Given the description of an element on the screen output the (x, y) to click on. 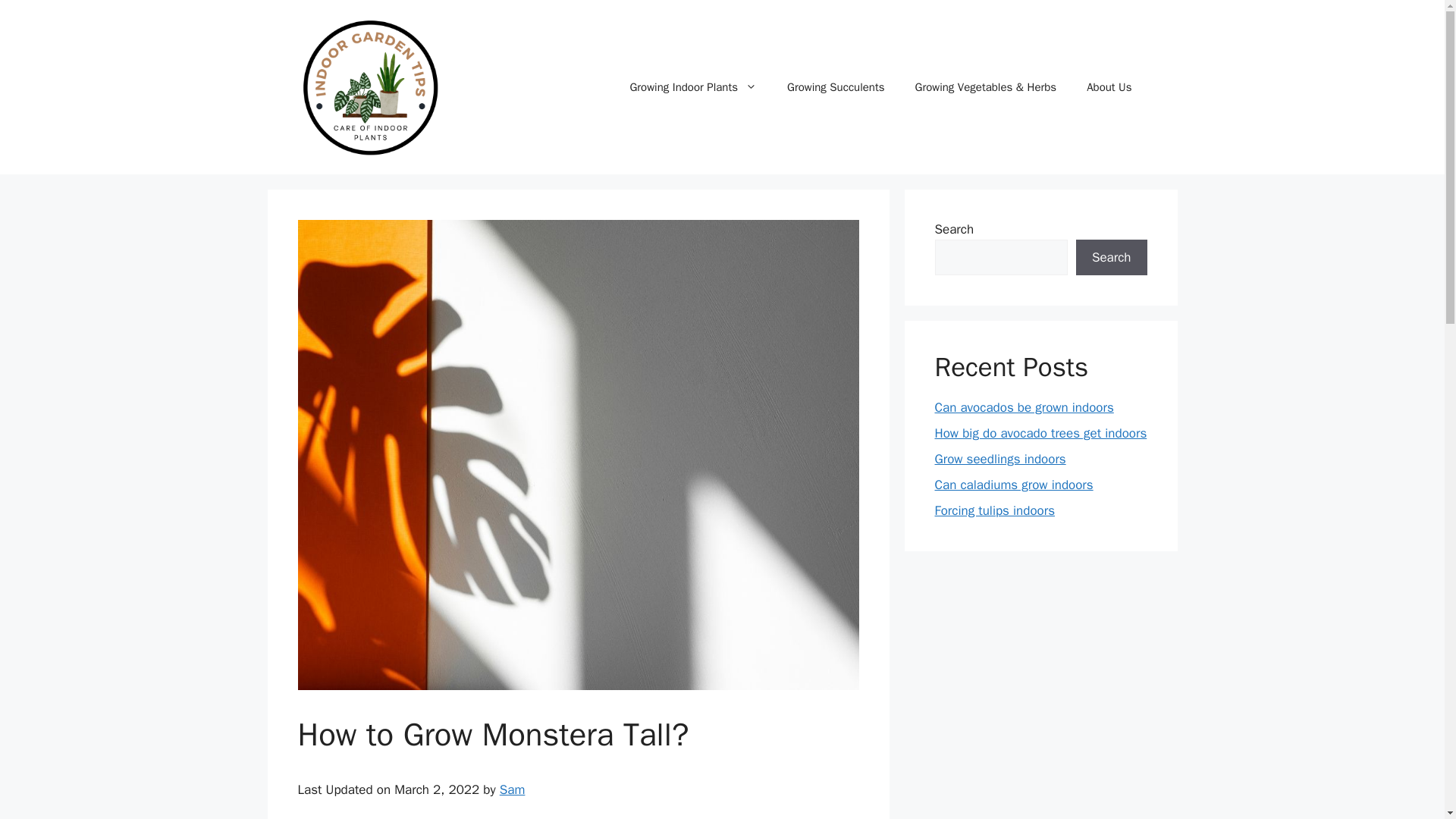
Growing Indoor Plants (692, 86)
Can caladiums grow indoors (1013, 484)
Can avocados be grown indoors (1023, 407)
How big do avocado trees get indoors (1040, 433)
Grow seedlings indoors (999, 458)
About Us (1109, 86)
Sam (512, 789)
Search (1111, 257)
Growing Succulents (835, 86)
Forcing tulips indoors (994, 510)
